Given the description of an element on the screen output the (x, y) to click on. 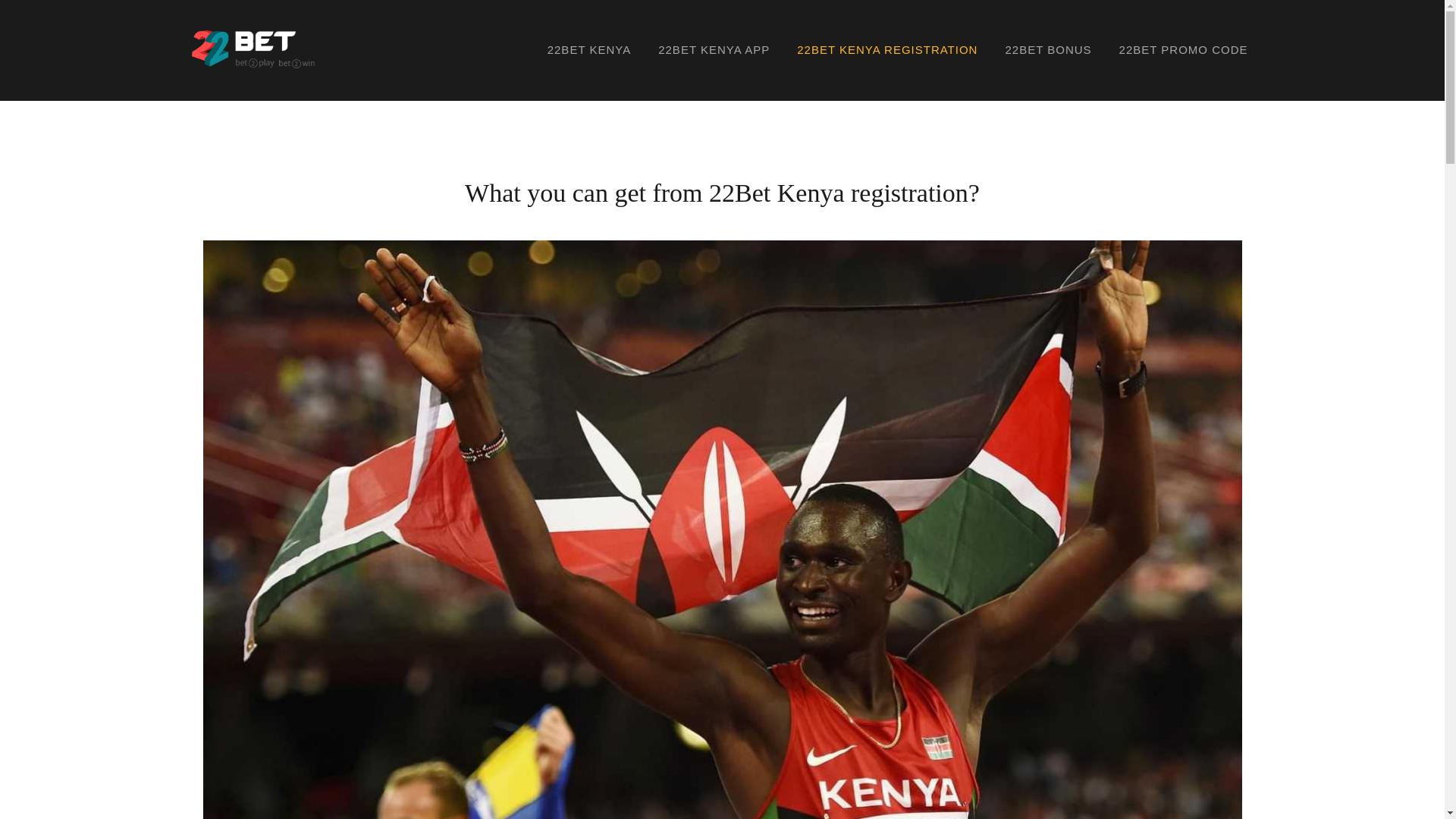
22BET KENYA APP Element type: text (713, 50)
22BET BONUS Element type: text (1047, 50)
2BET-KE.COM Element type: text (372, 55)
22BET PROMO CODE Element type: text (1183, 50)
22BET KENYA REGISTRATION Element type: text (887, 50)
22BET KENYA Element type: text (589, 50)
